Given the description of an element on the screen output the (x, y) to click on. 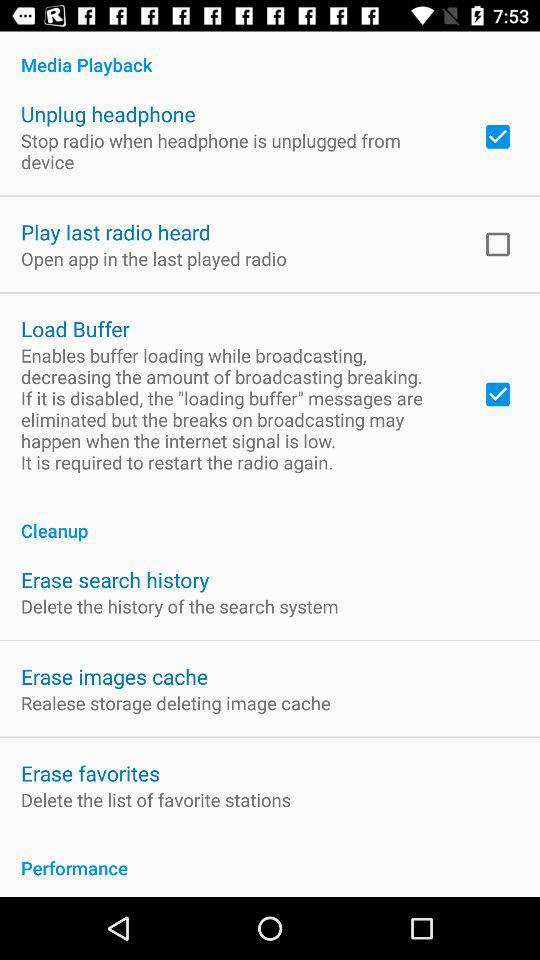
press item above stop radio when item (108, 113)
